Given the description of an element on the screen output the (x, y) to click on. 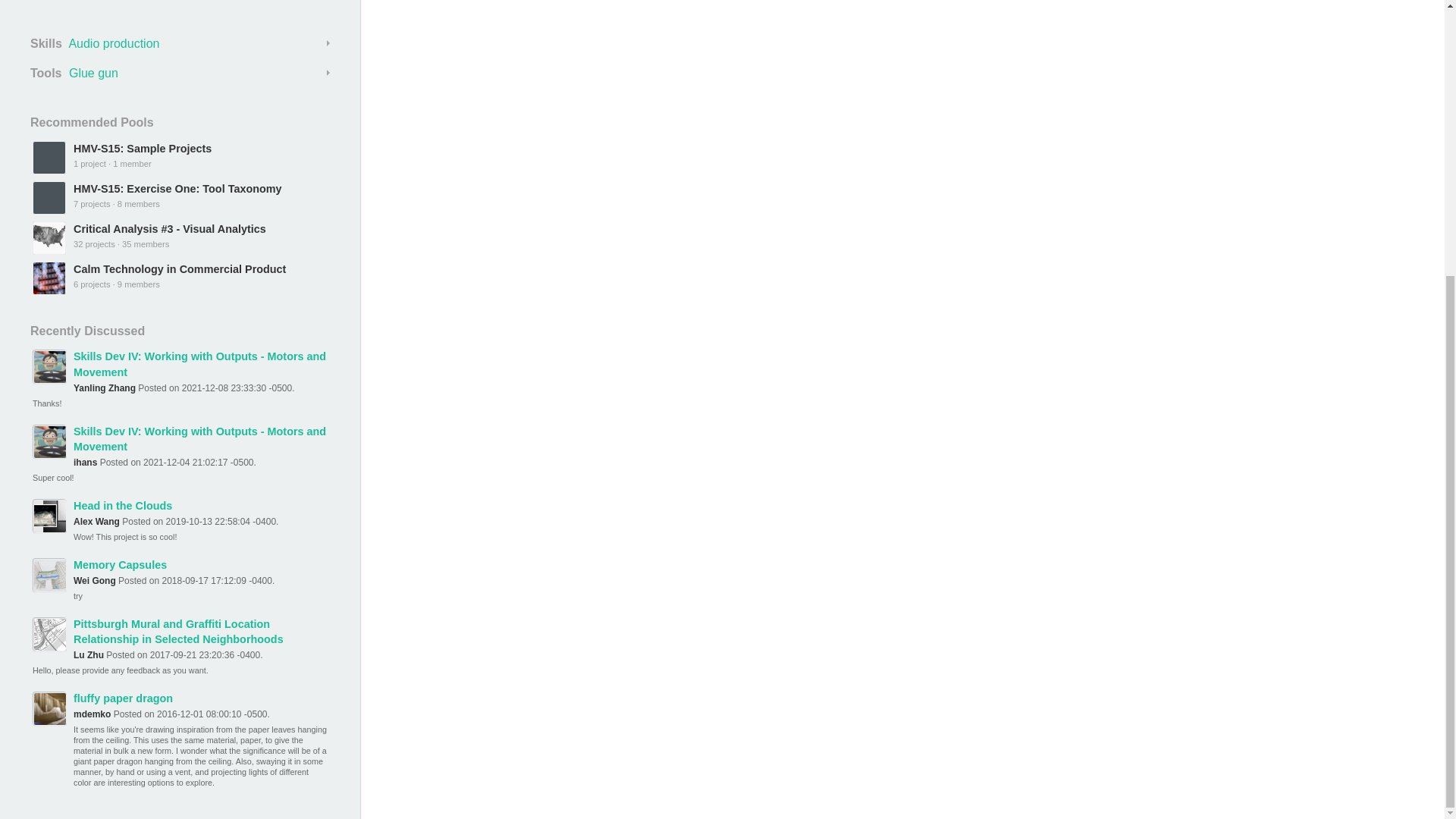
Skills Audio production (180, 44)
